Given the description of an element on the screen output the (x, y) to click on. 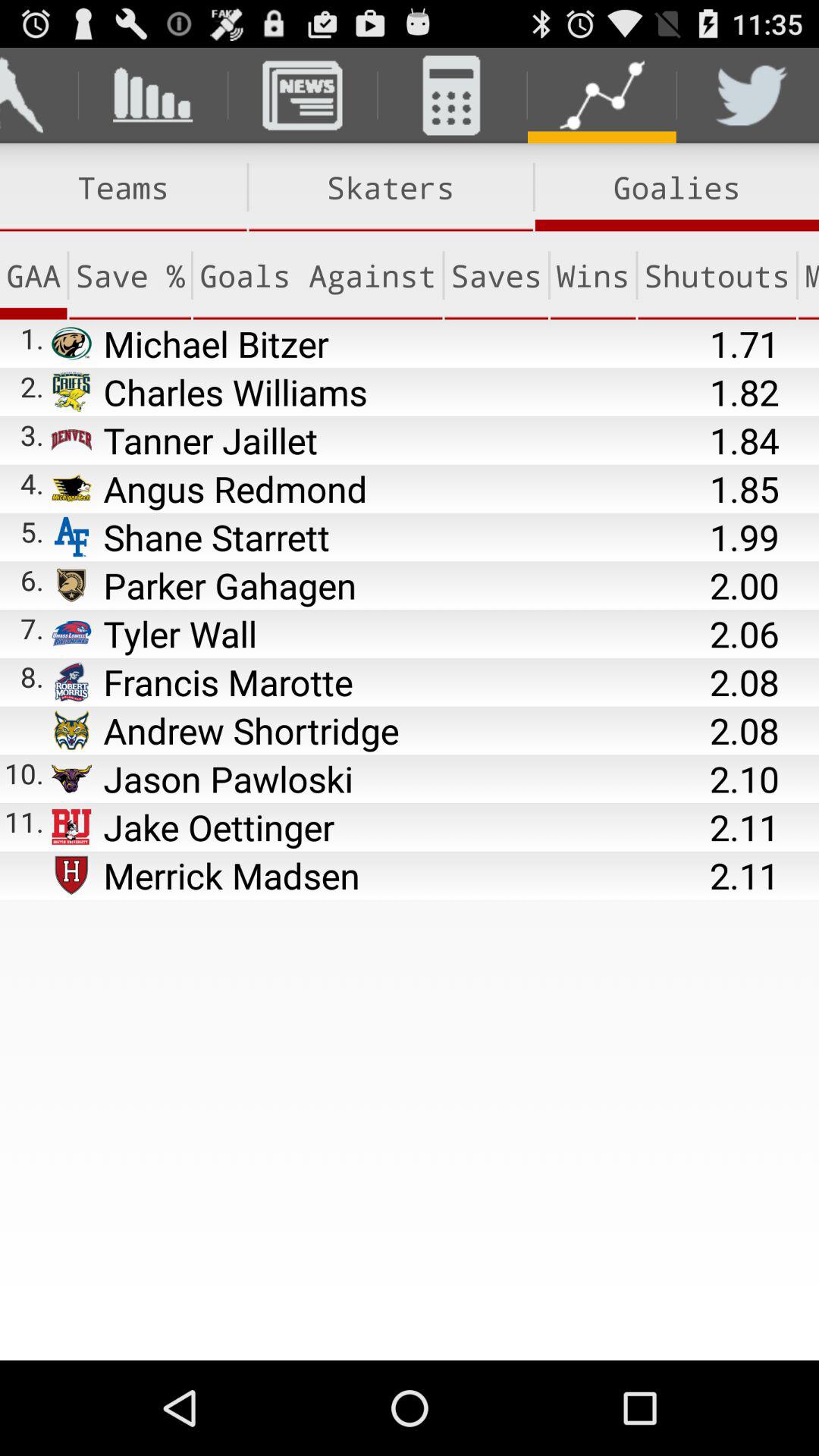
launch the item to the right of wins icon (717, 275)
